Given the description of an element on the screen output the (x, y) to click on. 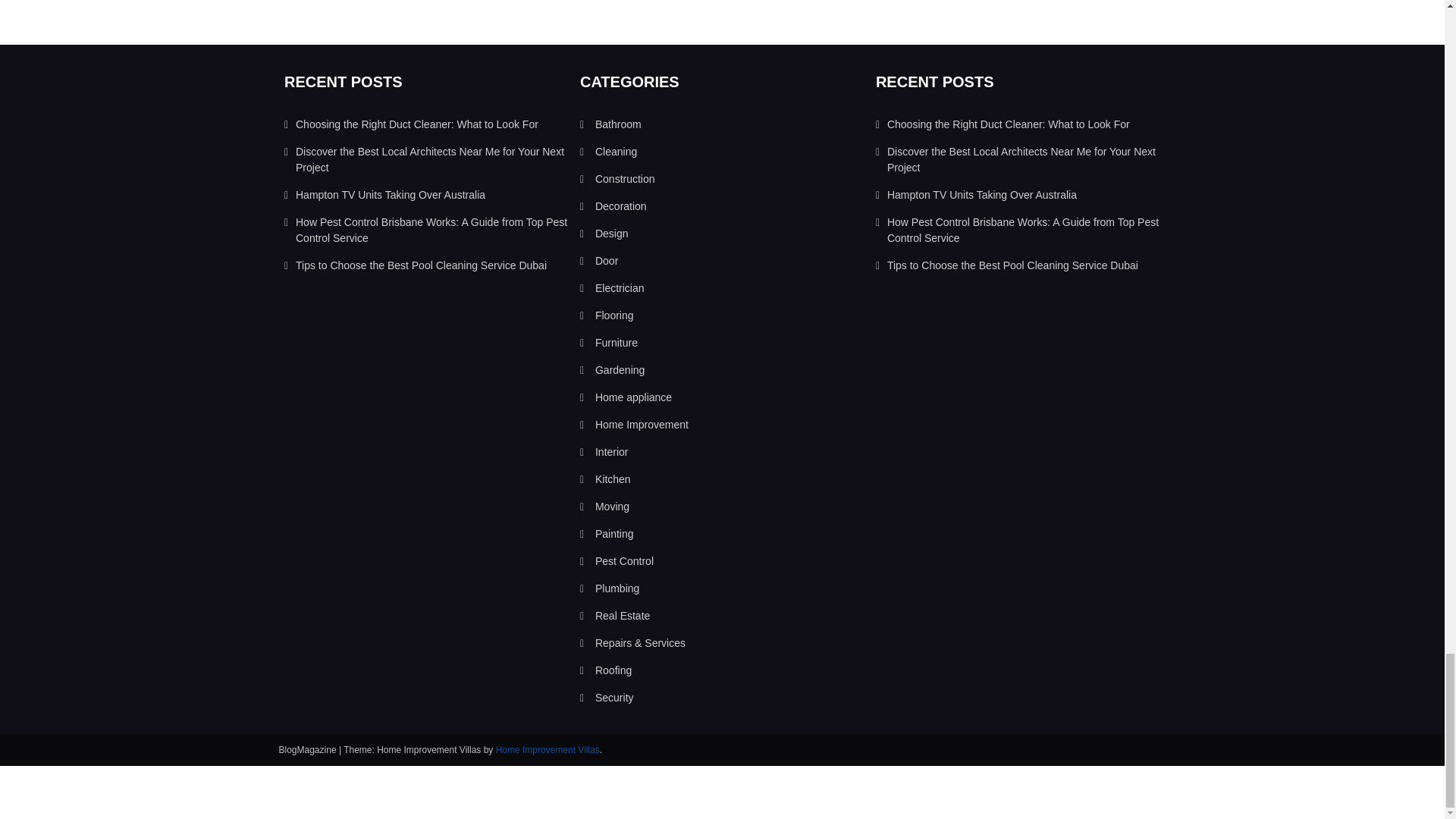
hot tub gazebo (606, 260)
